Given the description of an element on the screen output the (x, y) to click on. 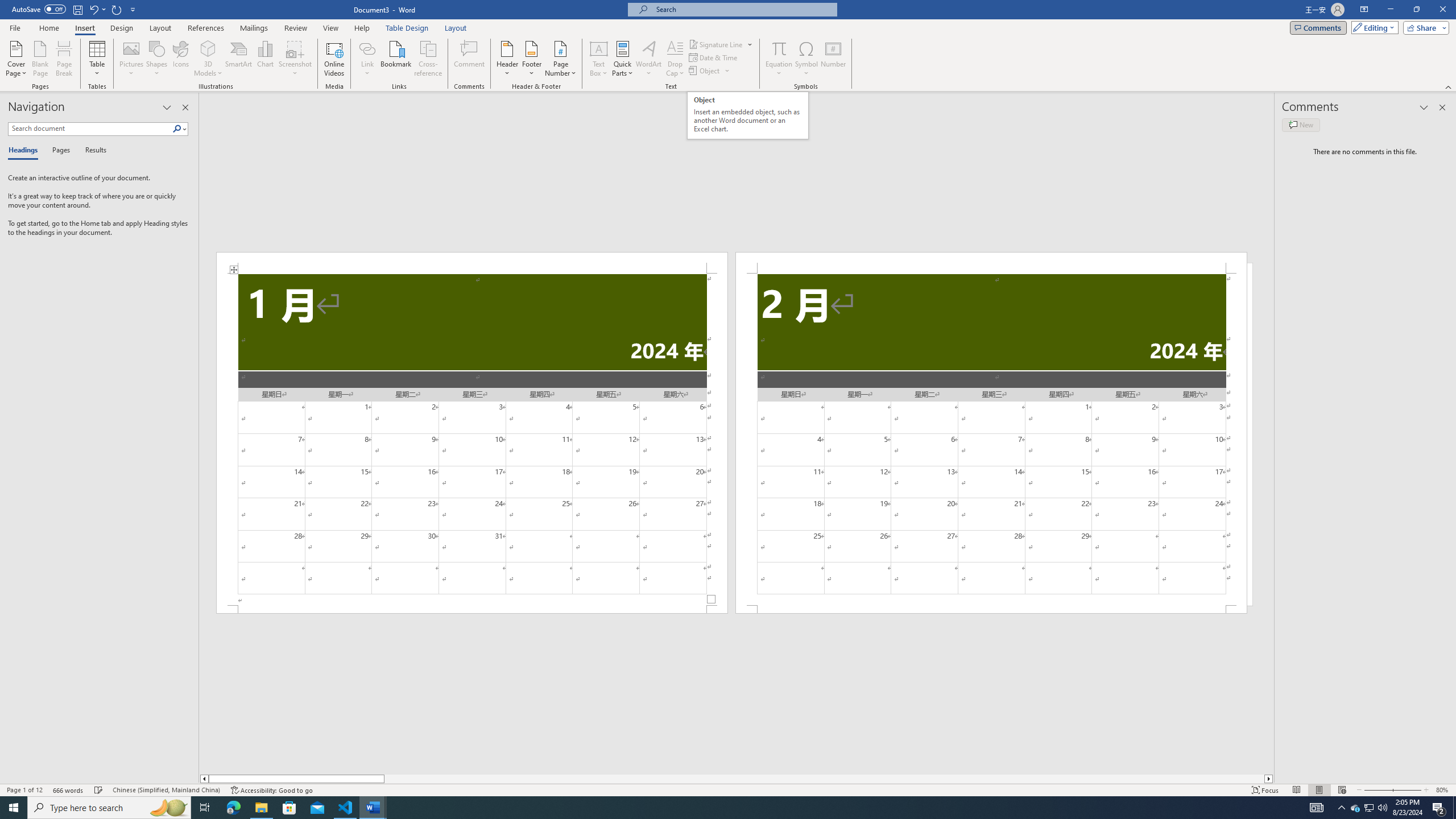
Footer -Section 2- (991, 609)
Screenshot (295, 58)
Icons (180, 58)
Table Design (407, 28)
Text Box (598, 58)
Headings (25, 150)
Bookmark... (396, 58)
